Given the description of an element on the screen output the (x, y) to click on. 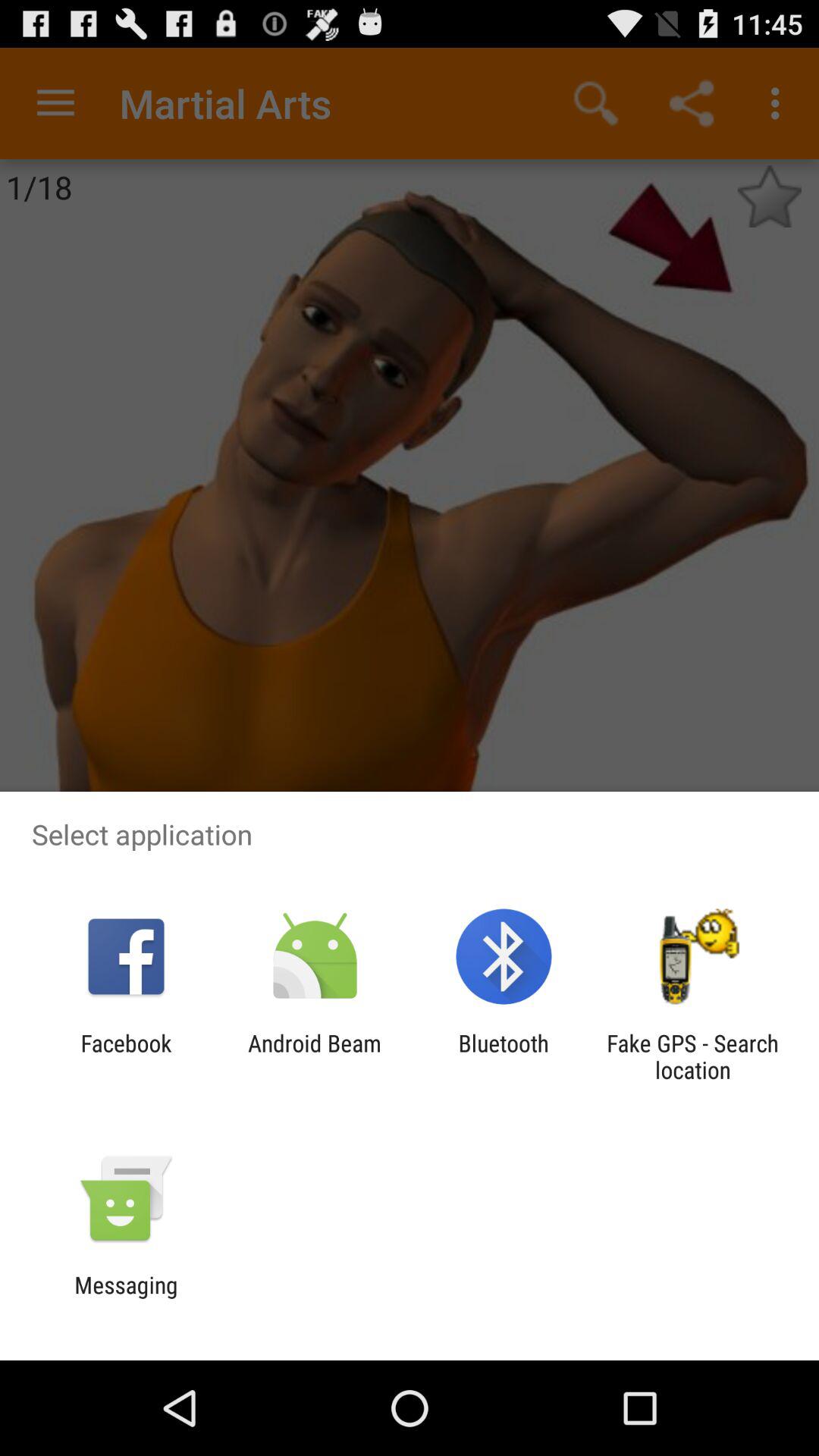
open fake gps search icon (692, 1056)
